Given the description of an element on the screen output the (x, y) to click on. 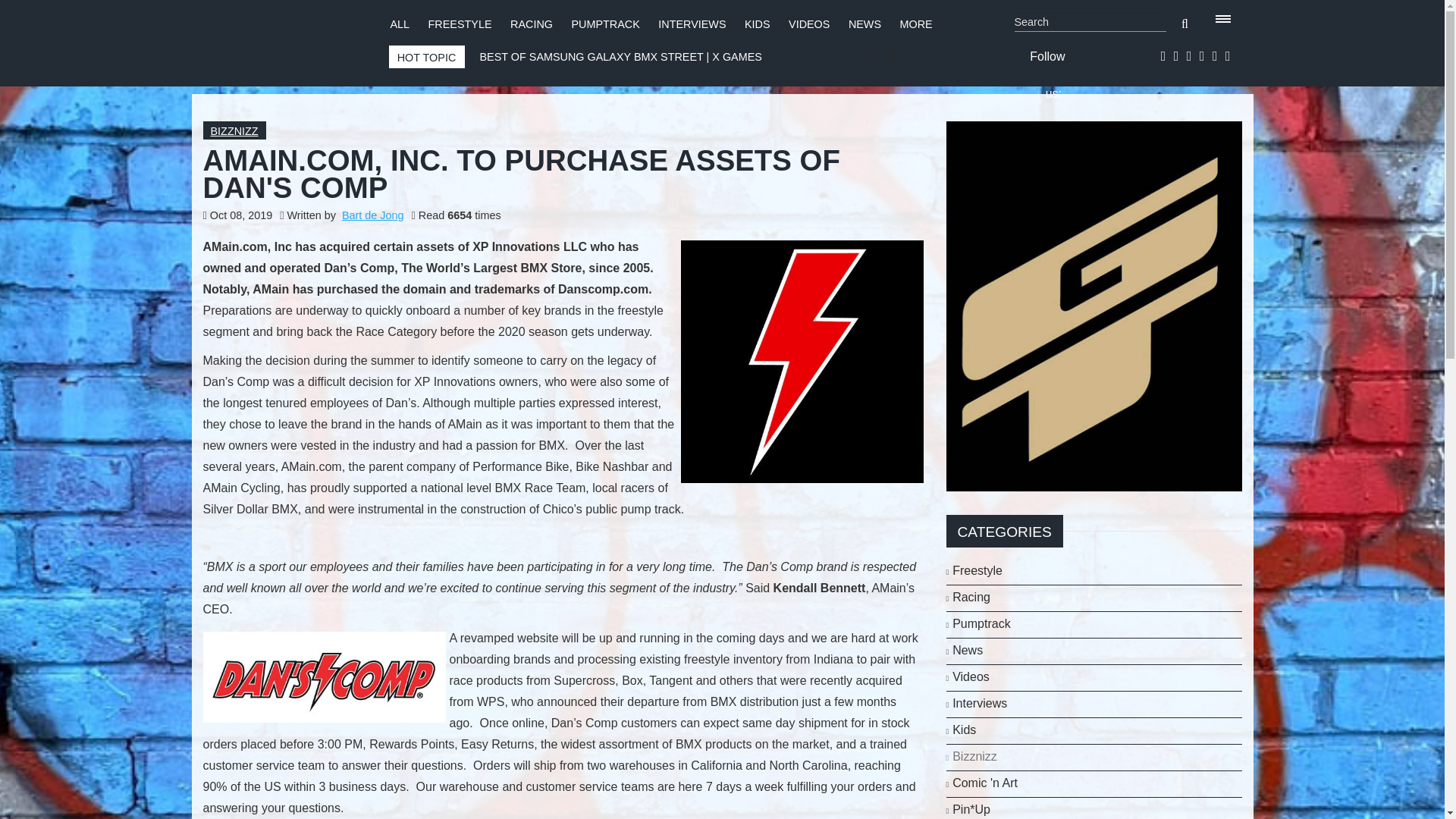
BIZZNIZZ (235, 131)
VIDEOS (809, 24)
Bart de Jong (373, 215)
FREESTYLE (460, 24)
FATBMX Your Online BMX News Resource Since 1998 (281, 38)
MORE (916, 24)
NEWS (864, 24)
Search (1090, 22)
search (1185, 23)
search (1185, 23)
KIDS (757, 24)
INTERVIEWS (691, 24)
RACING (532, 24)
PUMPTRACK (604, 24)
